Given the description of an element on the screen output the (x, y) to click on. 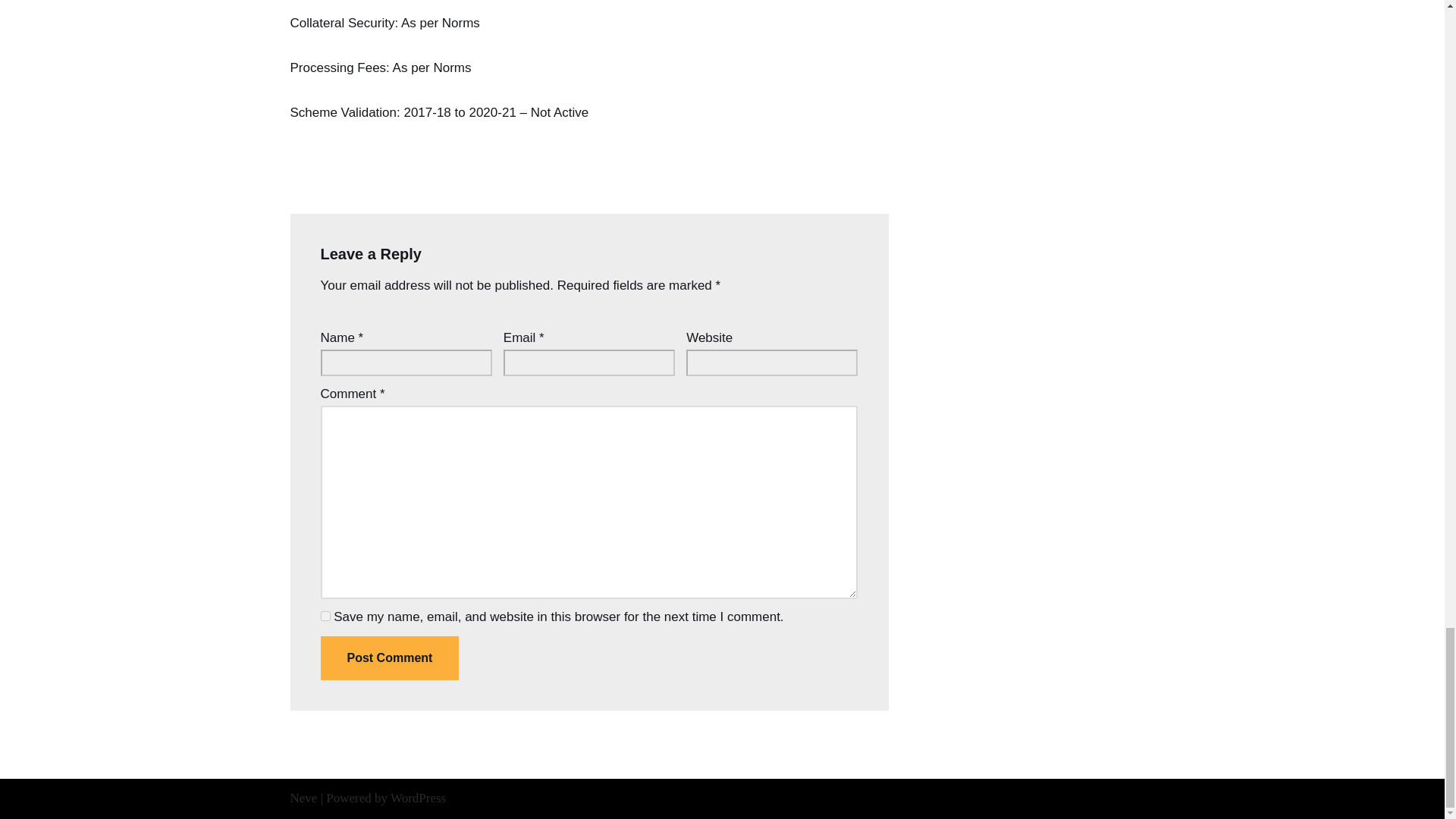
WordPress (417, 798)
Post Comment (389, 658)
Post Comment (389, 658)
yes (325, 615)
Neve (303, 798)
